Given the description of an element on the screen output the (x, y) to click on. 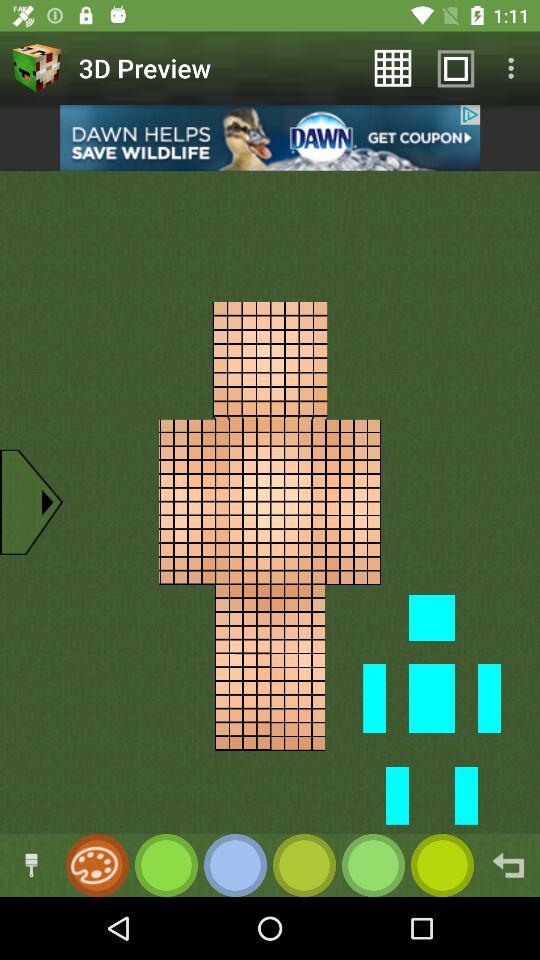
select color (373, 865)
